Given the description of an element on the screen output the (x, y) to click on. 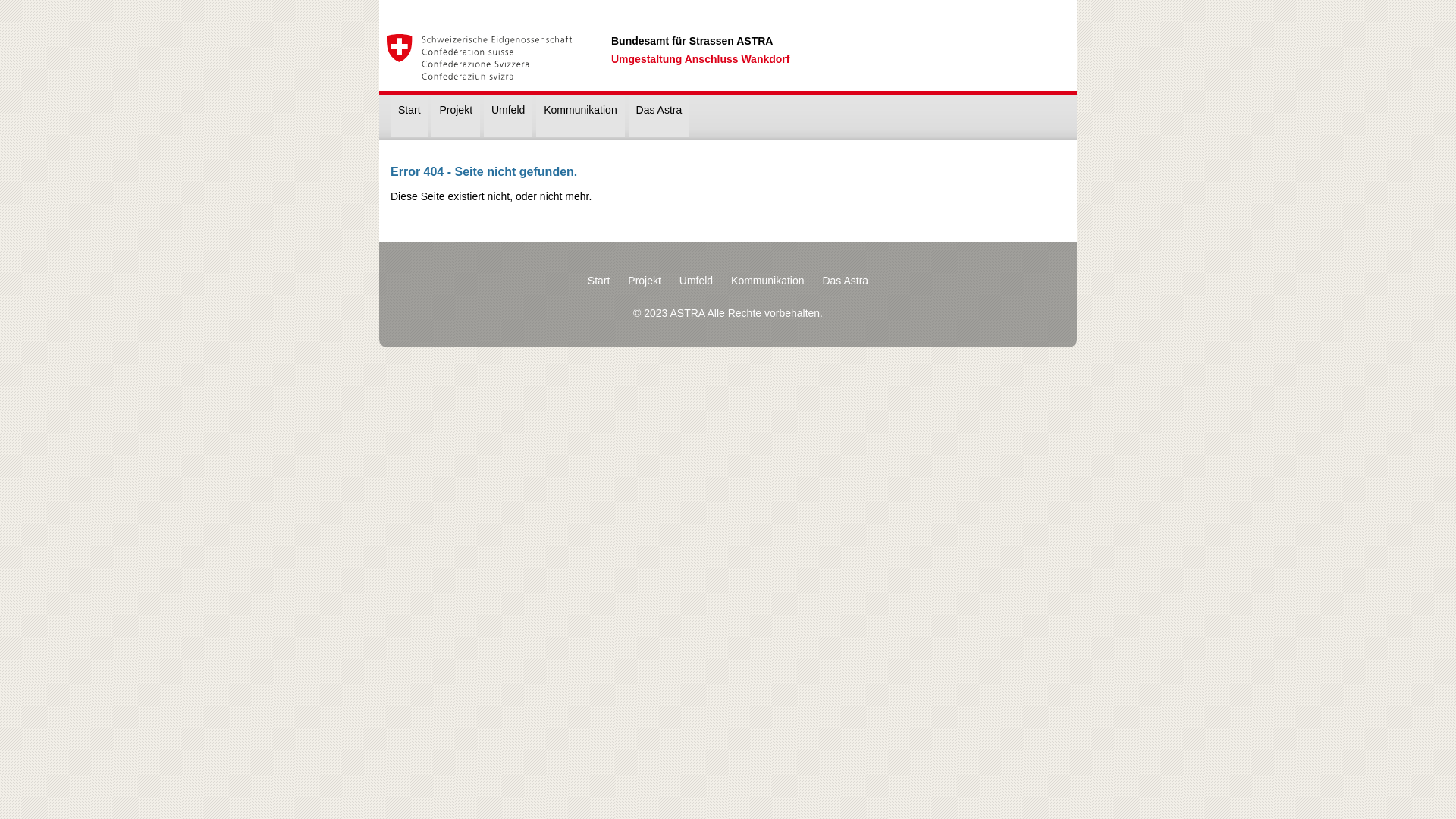
Projekt Element type: text (644, 280)
Umfeld Element type: text (695, 280)
Kommunikation Element type: text (767, 280)
Das Astra Element type: text (659, 116)
Start Element type: text (599, 280)
Kommunikation Element type: text (580, 116)
Projekt Element type: text (455, 116)
Start Element type: text (409, 116)
Umfeld Element type: text (507, 116)
Das Astra Element type: text (844, 280)
